Given the description of an element on the screen output the (x, y) to click on. 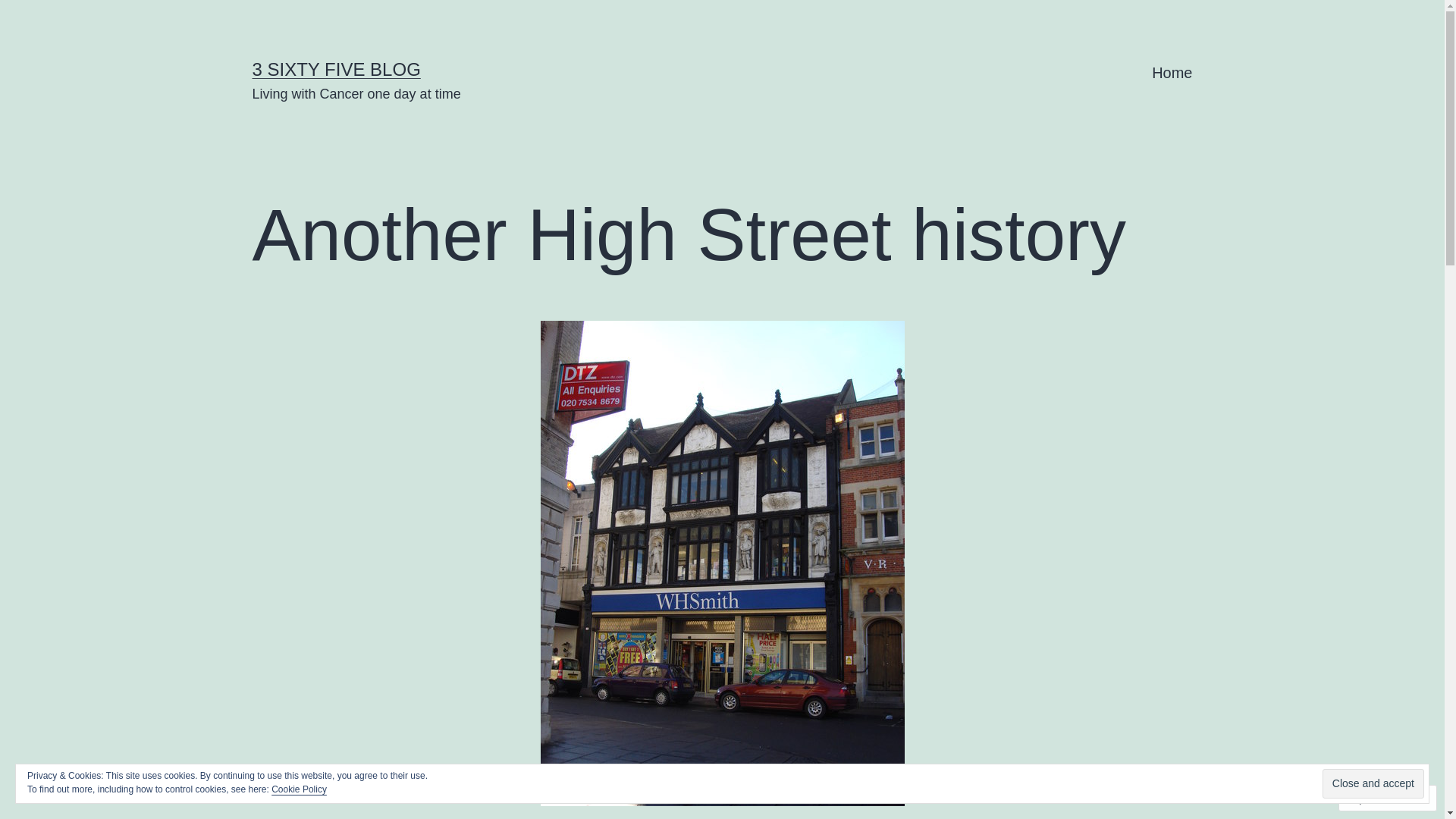
Follow Element type: text (1372, 797)
Close and accept Element type: text (1373, 783)
Cookie Policy Element type: text (298, 789)
3 SIXTY FIVE BLOG Element type: text (335, 69)
Home Element type: text (1172, 72)
